Given the description of an element on the screen output the (x, y) to click on. 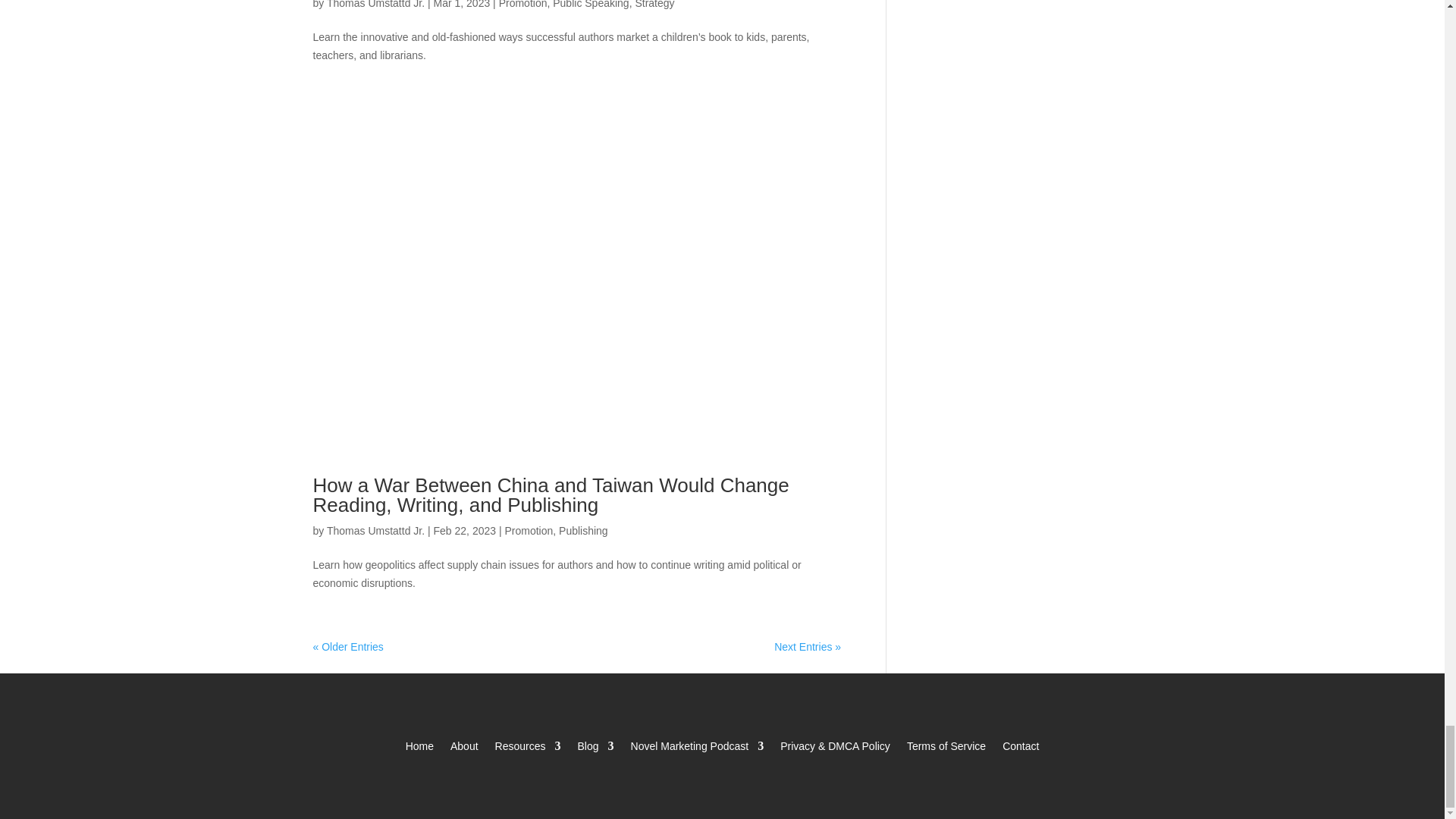
Posts by Thomas Umstattd Jr. (375, 530)
Posts by Thomas Umstattd Jr. (375, 4)
